Given the description of an element on the screen output the (x, y) to click on. 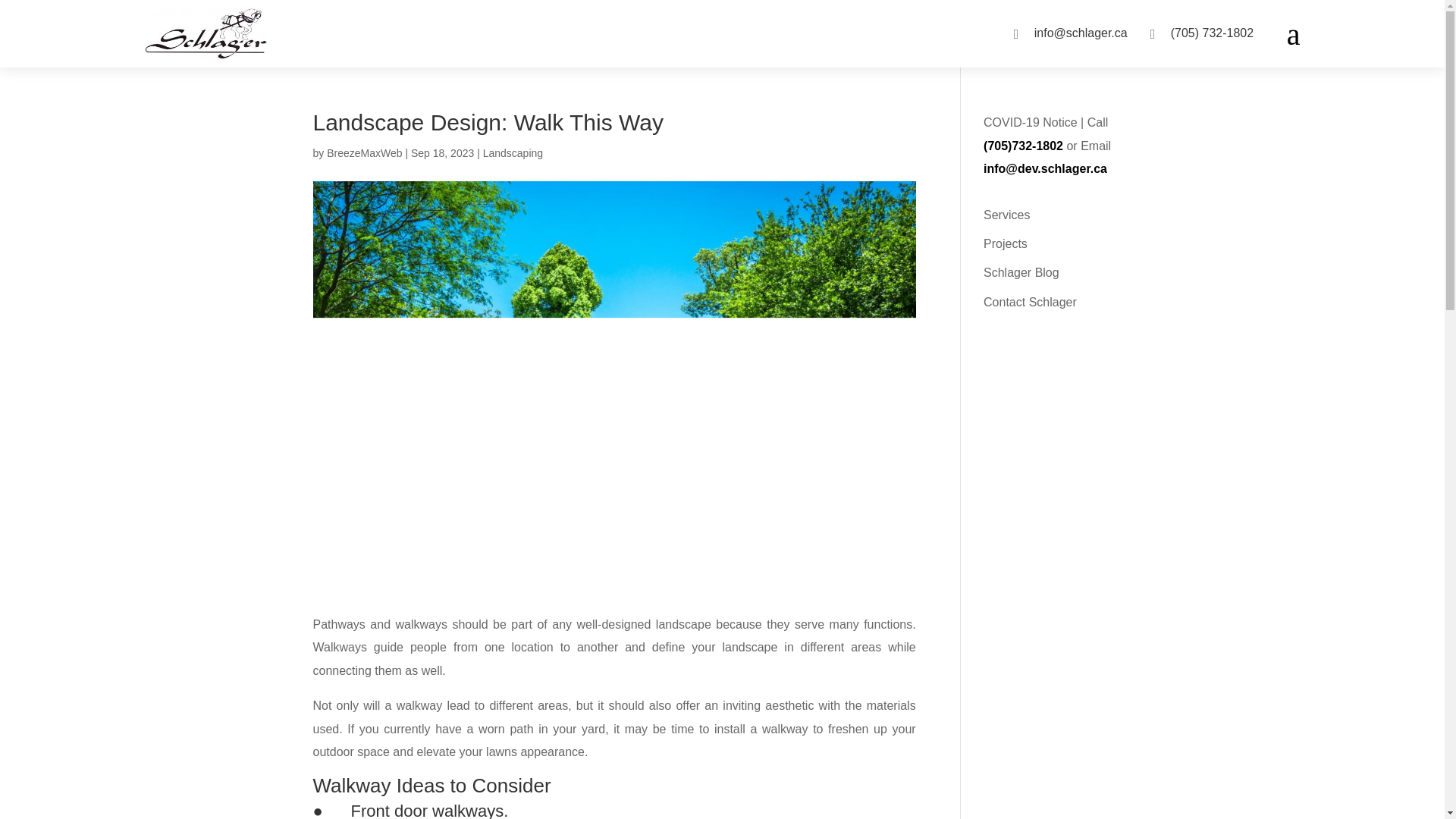
Landscaping (513, 152)
BreezeMaxWeb (363, 152)
Schlager Blog (1021, 272)
Posts by BreezeMaxWeb (363, 152)
Services (1006, 214)
COVID-19 Notice (1030, 122)
Contact Schlager (1030, 301)
Schlager Logo (205, 33)
Projects (1005, 243)
